Given the description of an element on the screen output the (x, y) to click on. 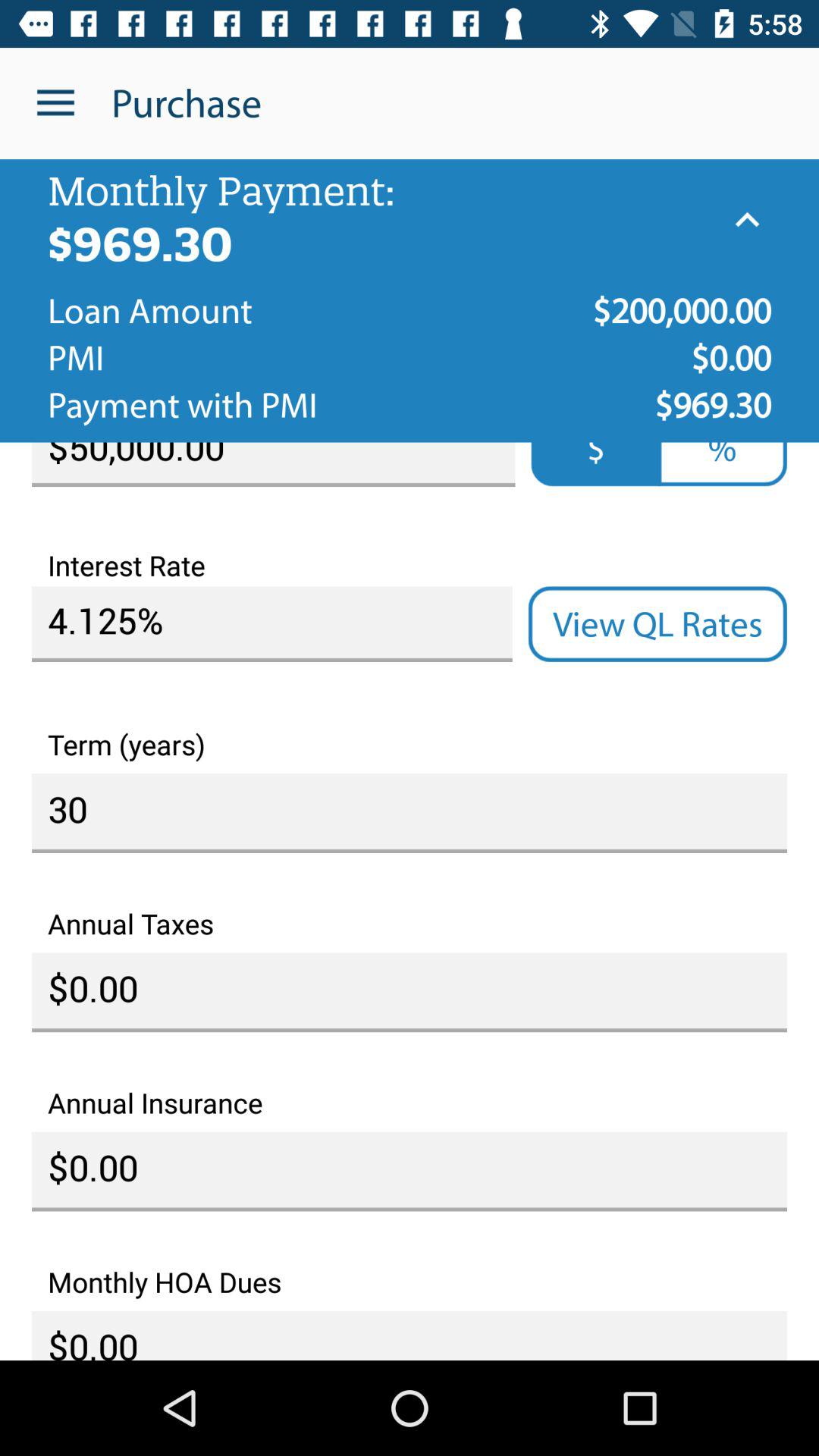
turn off 4.125% on the left (271, 624)
